Given the description of an element on the screen output the (x, y) to click on. 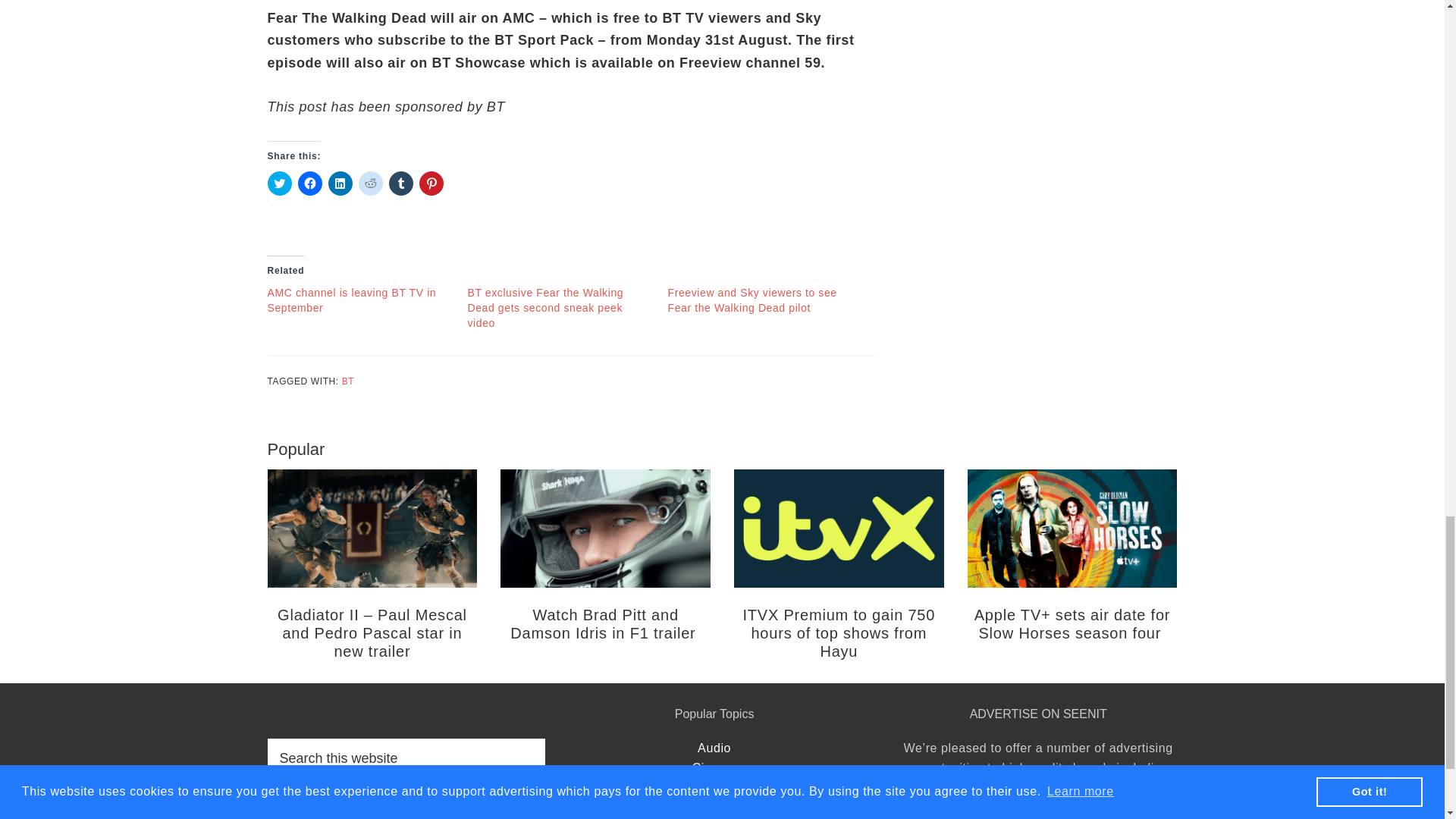
Click to share on Tumblr (400, 183)
Freeview and Sky viewers to see Fear the Walking Dead pilot (750, 299)
Freeview and Sky viewers to see Fear the Walking Dead pilot (750, 299)
Click to share on Pinterest (430, 183)
Audio (713, 748)
ITVX Premium to gain 750 hours of top shows from Hayu (838, 633)
Watch Brad Pitt and Damson Idris in F1 trailer  (605, 623)
Click to share on Reddit (369, 183)
Click to share on LinkedIn (339, 183)
Click to share on Twitter (278, 183)
AMC channel is leaving BT TV in September   (350, 299)
